Given the description of an element on the screen output the (x, y) to click on. 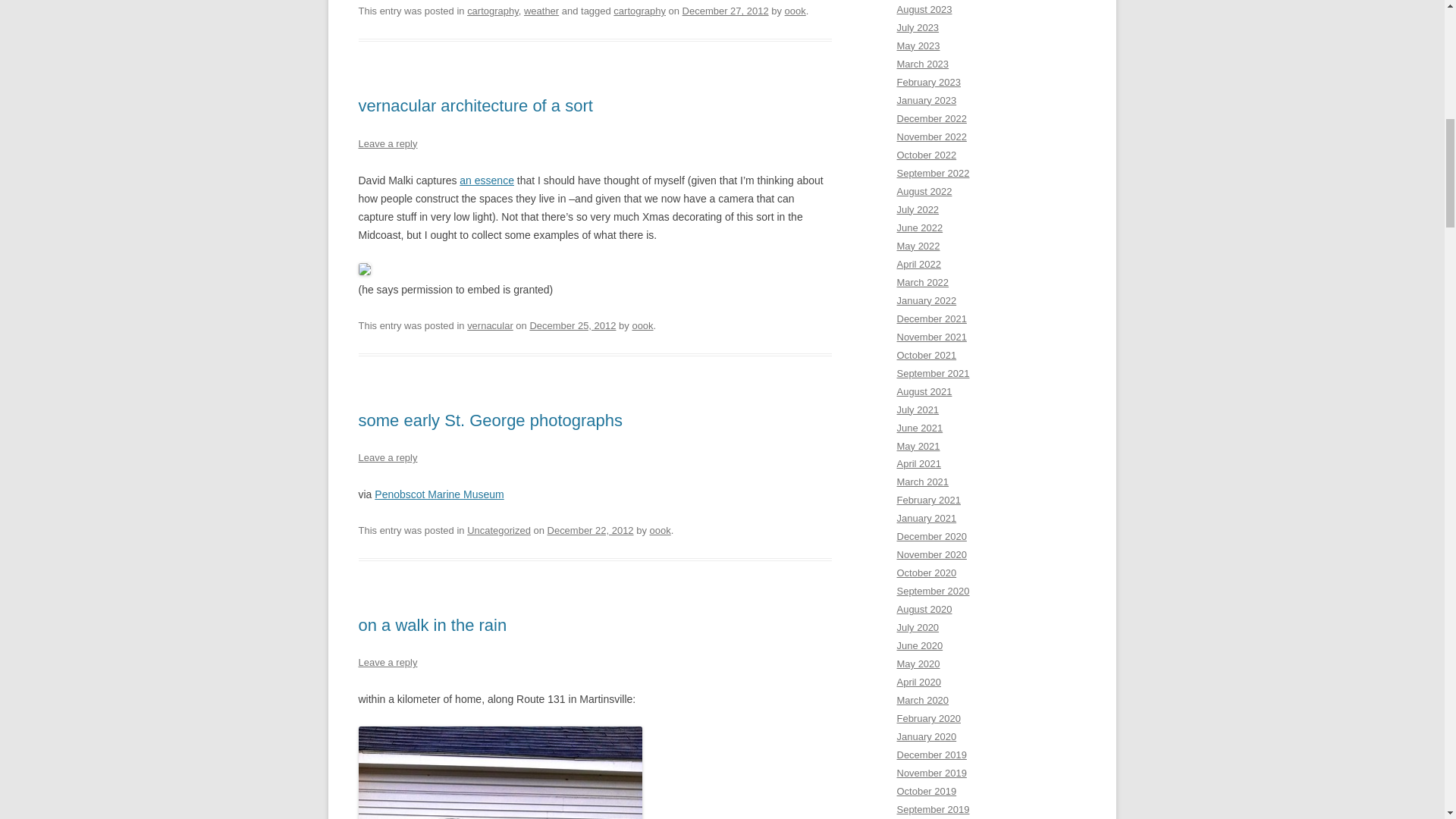
View all posts by oook (795, 10)
December 25, 2012 (572, 325)
Leave a reply (387, 662)
cartography (492, 10)
Penobscot Marine Museum (438, 494)
cartography (638, 10)
oook (795, 10)
on a walk in the rain (432, 624)
December 22, 2012 (590, 530)
View all posts by oook (641, 325)
